Given the description of an element on the screen output the (x, y) to click on. 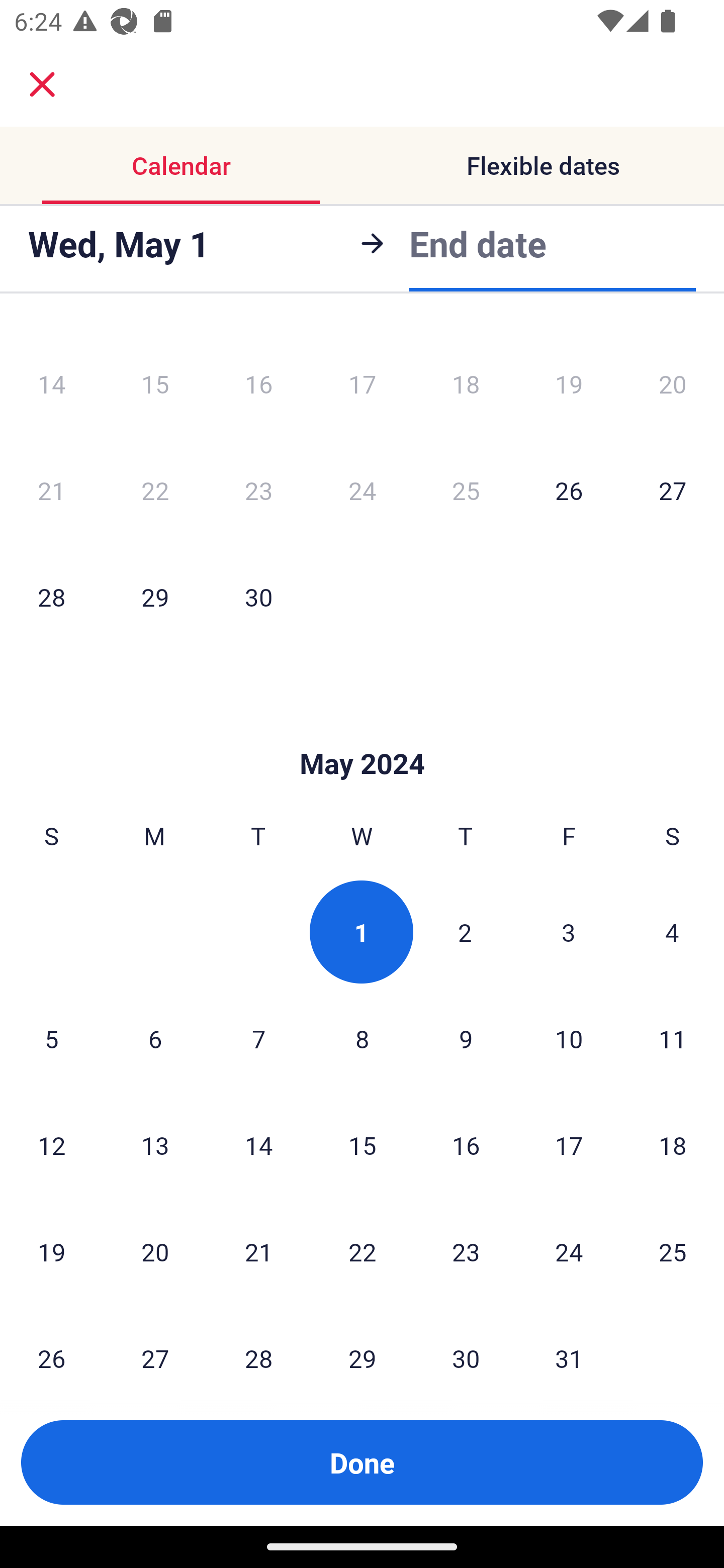
close. (42, 84)
Flexible dates (542, 164)
End date (477, 240)
14 Sunday, April 14, 2024 (51, 383)
15 Monday, April 15, 2024 (155, 383)
16 Tuesday, April 16, 2024 (258, 383)
17 Wednesday, April 17, 2024 (362, 383)
18 Thursday, April 18, 2024 (465, 383)
19 Friday, April 19, 2024 (569, 383)
20 Saturday, April 20, 2024 (672, 383)
21 Sunday, April 21, 2024 (51, 490)
22 Monday, April 22, 2024 (155, 490)
23 Tuesday, April 23, 2024 (258, 490)
24 Wednesday, April 24, 2024 (362, 490)
25 Thursday, April 25, 2024 (465, 490)
26 Friday, April 26, 2024 (569, 490)
27 Saturday, April 27, 2024 (672, 490)
28 Sunday, April 28, 2024 (51, 596)
29 Monday, April 29, 2024 (155, 596)
30 Tuesday, April 30, 2024 (258, 596)
Skip to Done (362, 733)
2 Thursday, May 2, 2024 (464, 932)
3 Friday, May 3, 2024 (568, 932)
4 Saturday, May 4, 2024 (672, 932)
5 Sunday, May 5, 2024 (51, 1037)
6 Monday, May 6, 2024 (155, 1037)
7 Tuesday, May 7, 2024 (258, 1037)
8 Wednesday, May 8, 2024 (362, 1037)
9 Thursday, May 9, 2024 (465, 1037)
10 Friday, May 10, 2024 (569, 1037)
11 Saturday, May 11, 2024 (672, 1037)
12 Sunday, May 12, 2024 (51, 1144)
13 Monday, May 13, 2024 (155, 1144)
14 Tuesday, May 14, 2024 (258, 1144)
15 Wednesday, May 15, 2024 (362, 1144)
16 Thursday, May 16, 2024 (465, 1144)
17 Friday, May 17, 2024 (569, 1144)
18 Saturday, May 18, 2024 (672, 1144)
19 Sunday, May 19, 2024 (51, 1251)
20 Monday, May 20, 2024 (155, 1251)
21 Tuesday, May 21, 2024 (258, 1251)
22 Wednesday, May 22, 2024 (362, 1251)
23 Thursday, May 23, 2024 (465, 1251)
24 Friday, May 24, 2024 (569, 1251)
25 Saturday, May 25, 2024 (672, 1251)
26 Sunday, May 26, 2024 (51, 1342)
27 Monday, May 27, 2024 (155, 1342)
28 Tuesday, May 28, 2024 (258, 1342)
29 Wednesday, May 29, 2024 (362, 1342)
30 Thursday, May 30, 2024 (465, 1342)
31 Friday, May 31, 2024 (569, 1342)
Done (361, 1462)
